Given the description of an element on the screen output the (x, y) to click on. 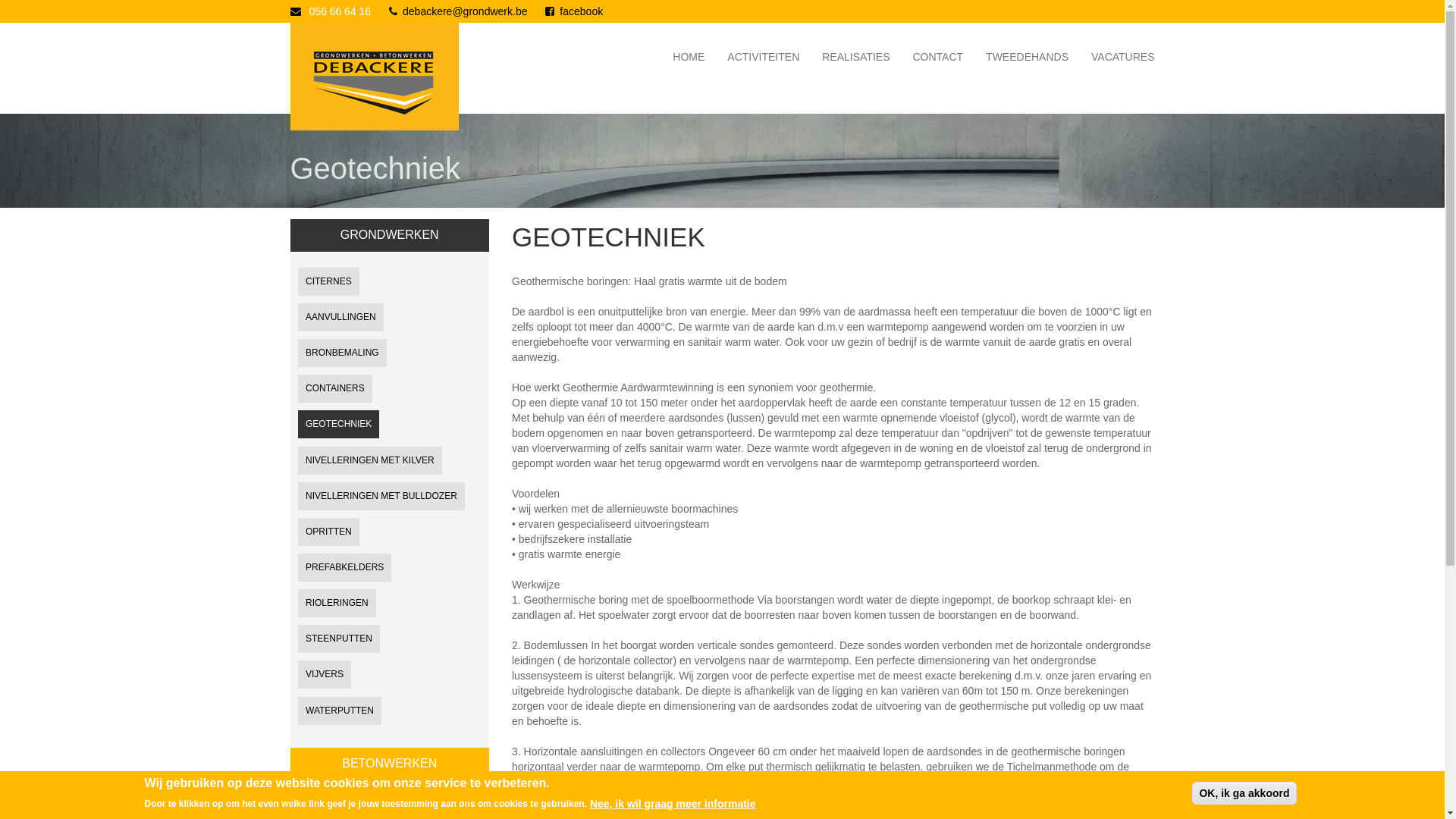
CONTAINERS Element type: text (334, 388)
RIOLERINGEN Element type: text (336, 603)
PREFABKELDERS Element type: text (343, 567)
WATERPUTTEN Element type: text (338, 710)
NIVELLERINGEN MET KILVER Element type: text (369, 460)
Overslaan en naar de inhoud gaan Element type: text (81, 0)
NIVELLERINGEN MET BULLDOZER Element type: text (380, 496)
STEENPUTTEN Element type: text (338, 638)
Nee, ik wil graag meer informatie Element type: text (672, 802)
REALISATIES Element type: text (855, 56)
CITERNES Element type: text (327, 281)
OK, ik ga akkoord Element type: text (1243, 792)
debackere@grondwerk.be Element type: text (464, 11)
VIJVERS Element type: text (323, 674)
VACATURES Element type: text (1122, 56)
BETONWERKEN Element type: text (389, 764)
AANVULLINGEN Element type: text (339, 317)
HOME Element type: text (688, 56)
TWEEDEHANDS Element type: text (1026, 56)
OPRITTEN Element type: text (327, 531)
facebook Element type: text (580, 11)
Home Element type: hover (368, 41)
GEOTECHNIEK Element type: text (337, 424)
ACTIVITEITEN Element type: text (762, 56)
BRONBEMALING Element type: text (341, 352)
CONTACT Element type: text (937, 56)
GRONDWERKEN Element type: text (389, 235)
